Given the description of an element on the screen output the (x, y) to click on. 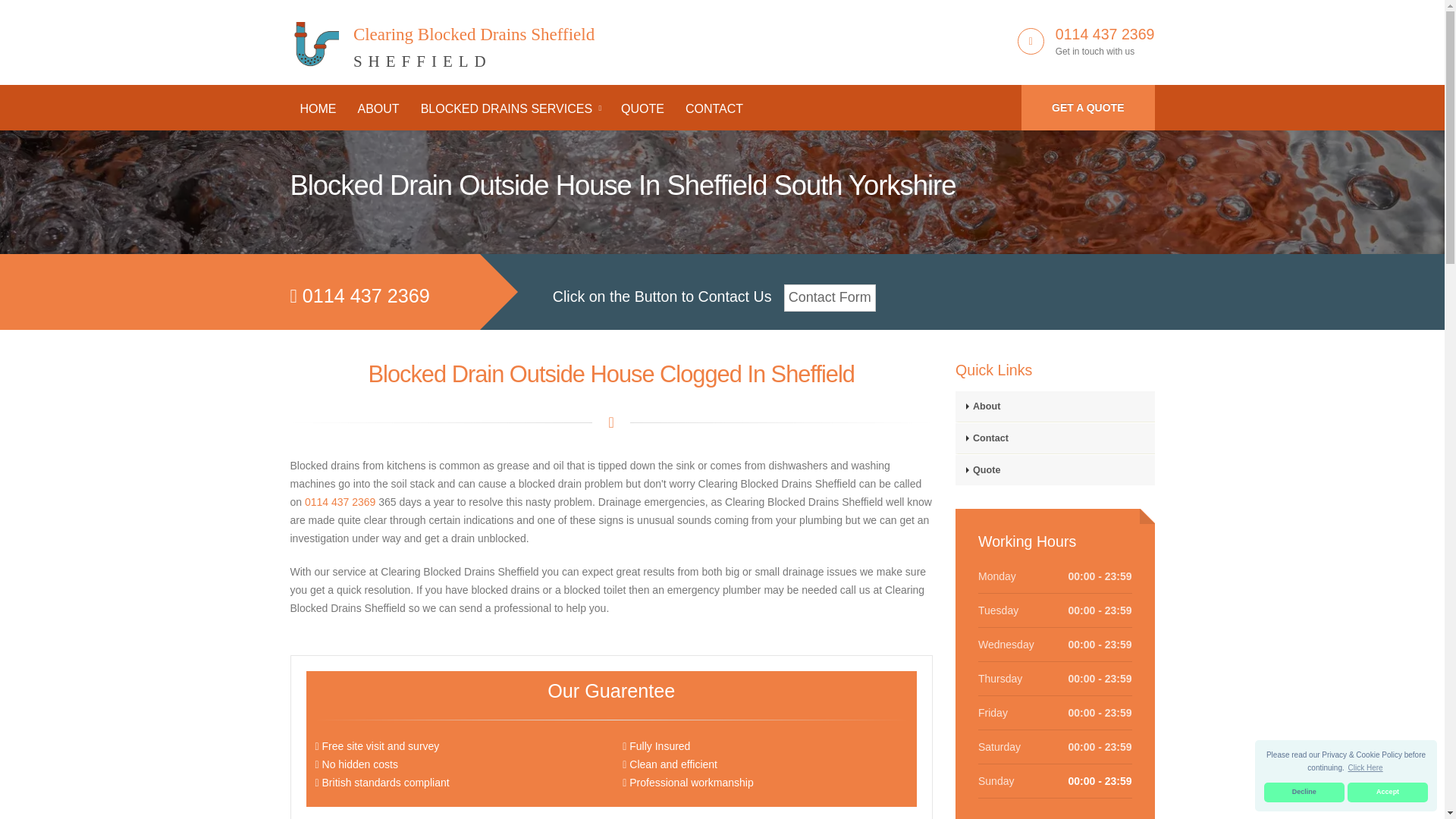
Accept (441, 38)
Click Here (1388, 792)
Decline (1365, 767)
0114 437 2369 (1303, 792)
0114 437 2369 (339, 501)
ABOUT (1104, 33)
Contact Form (378, 109)
BLOCKED DRAINS SERVICES (830, 298)
GET A QUOTE (510, 109)
